Given the description of an element on the screen output the (x, y) to click on. 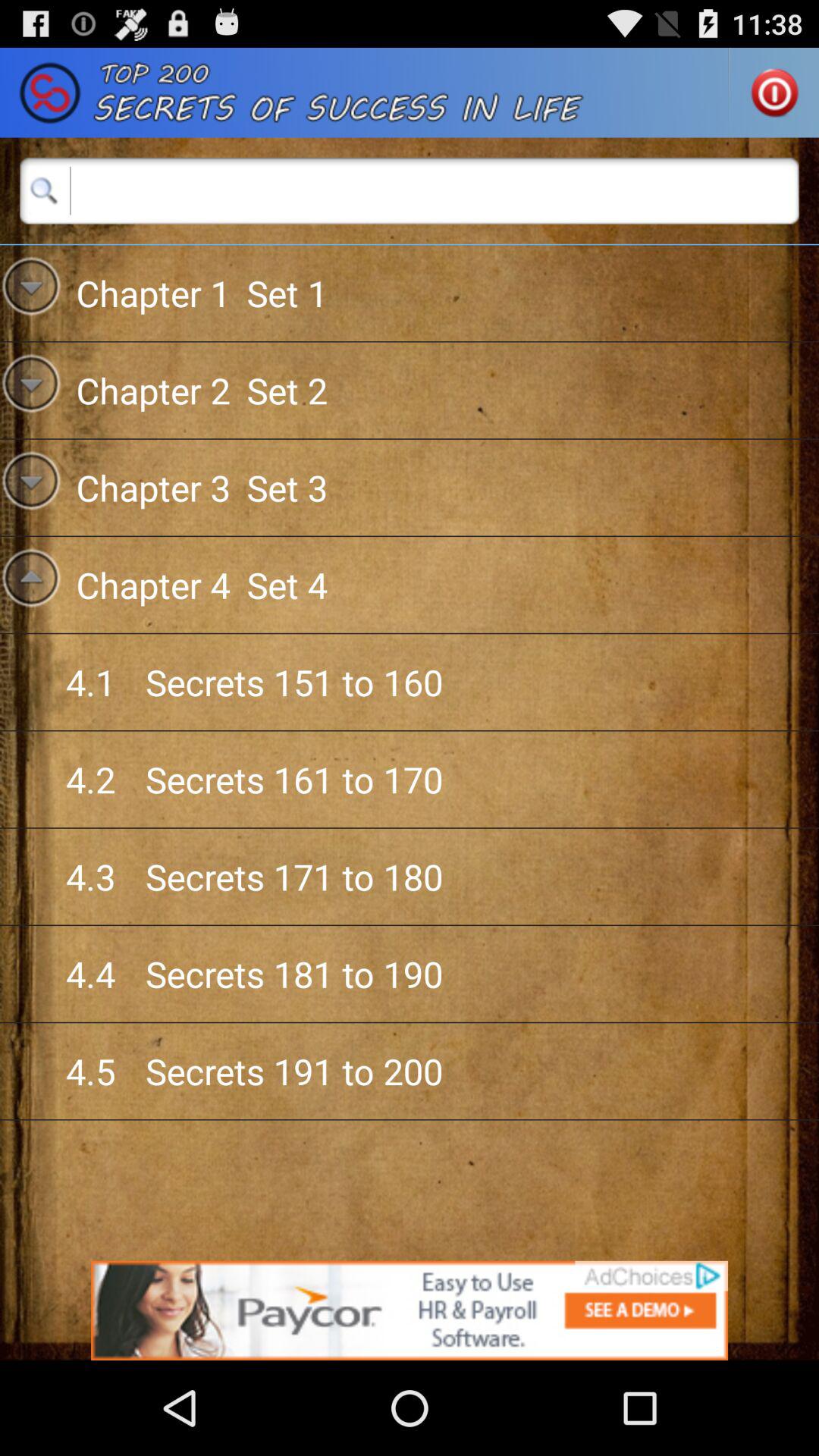
view advertisement (409, 1310)
